Given the description of an element on the screen output the (x, y) to click on. 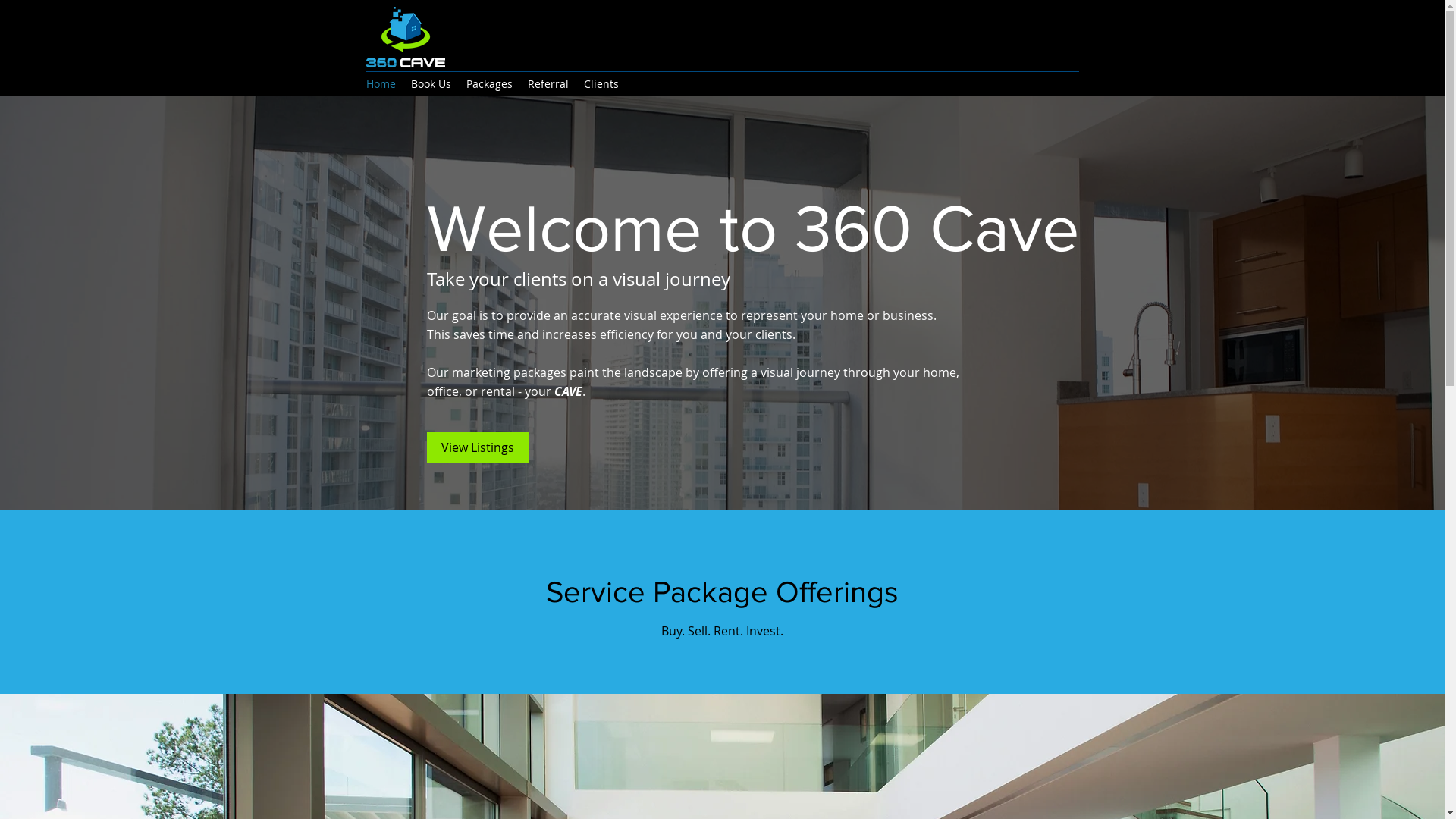
Site Search Element type: hover (1002, 36)
Packages Element type: text (488, 83)
Referral Element type: text (548, 83)
Clients Element type: text (601, 83)
Book Us Element type: text (430, 83)
Home Element type: text (379, 83)
View Listings Element type: text (477, 447)
